Given the description of an element on the screen output the (x, y) to click on. 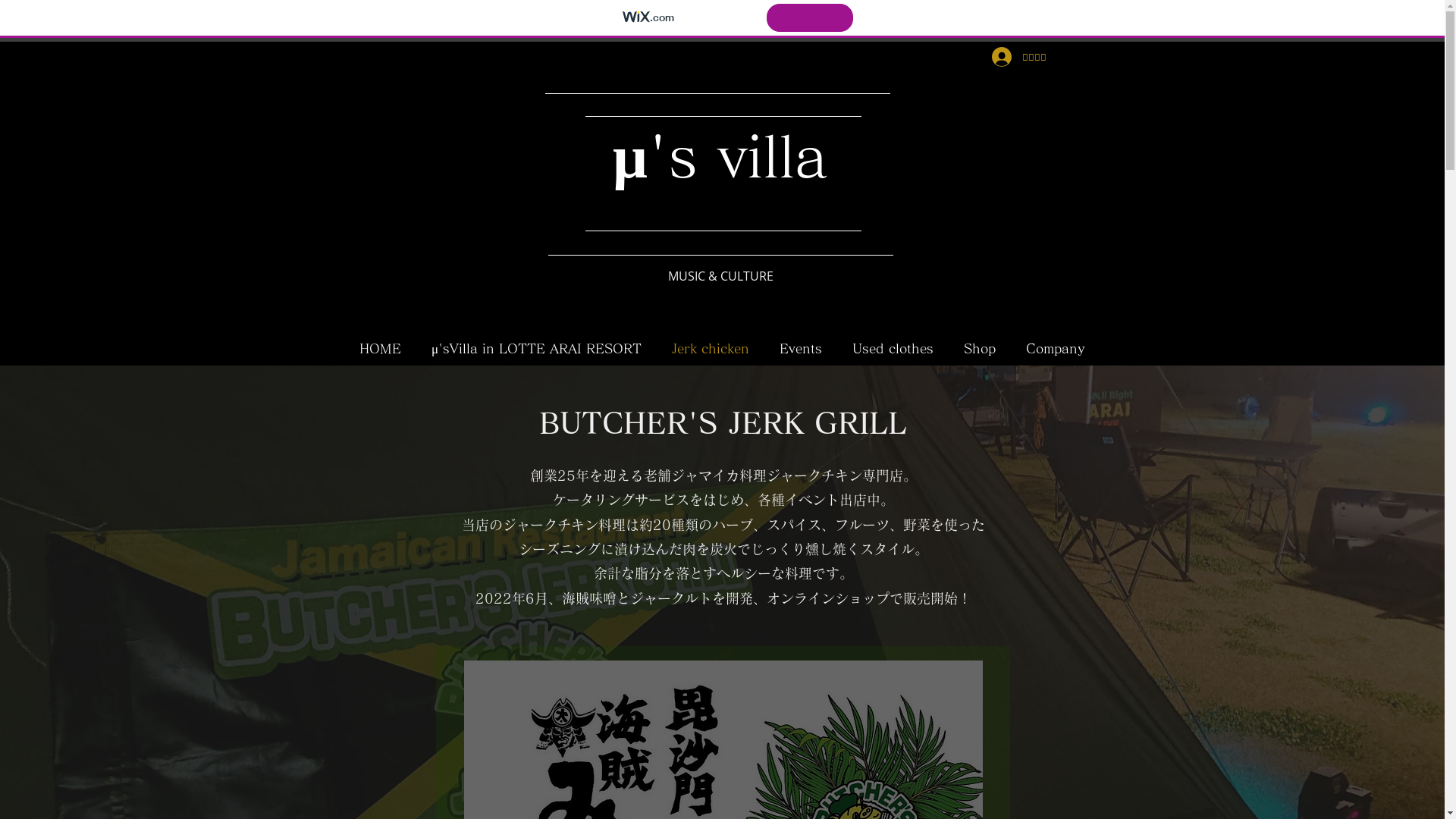
Jerk chicken Element type: text (710, 348)
Company Element type: text (1055, 348)
Used clothes Element type: text (892, 348)
Shop Element type: text (979, 348)
villa Element type: text (772, 155)
Events Element type: text (800, 348)
HOME Element type: text (380, 348)
